Given the description of an element on the screen output the (x, y) to click on. 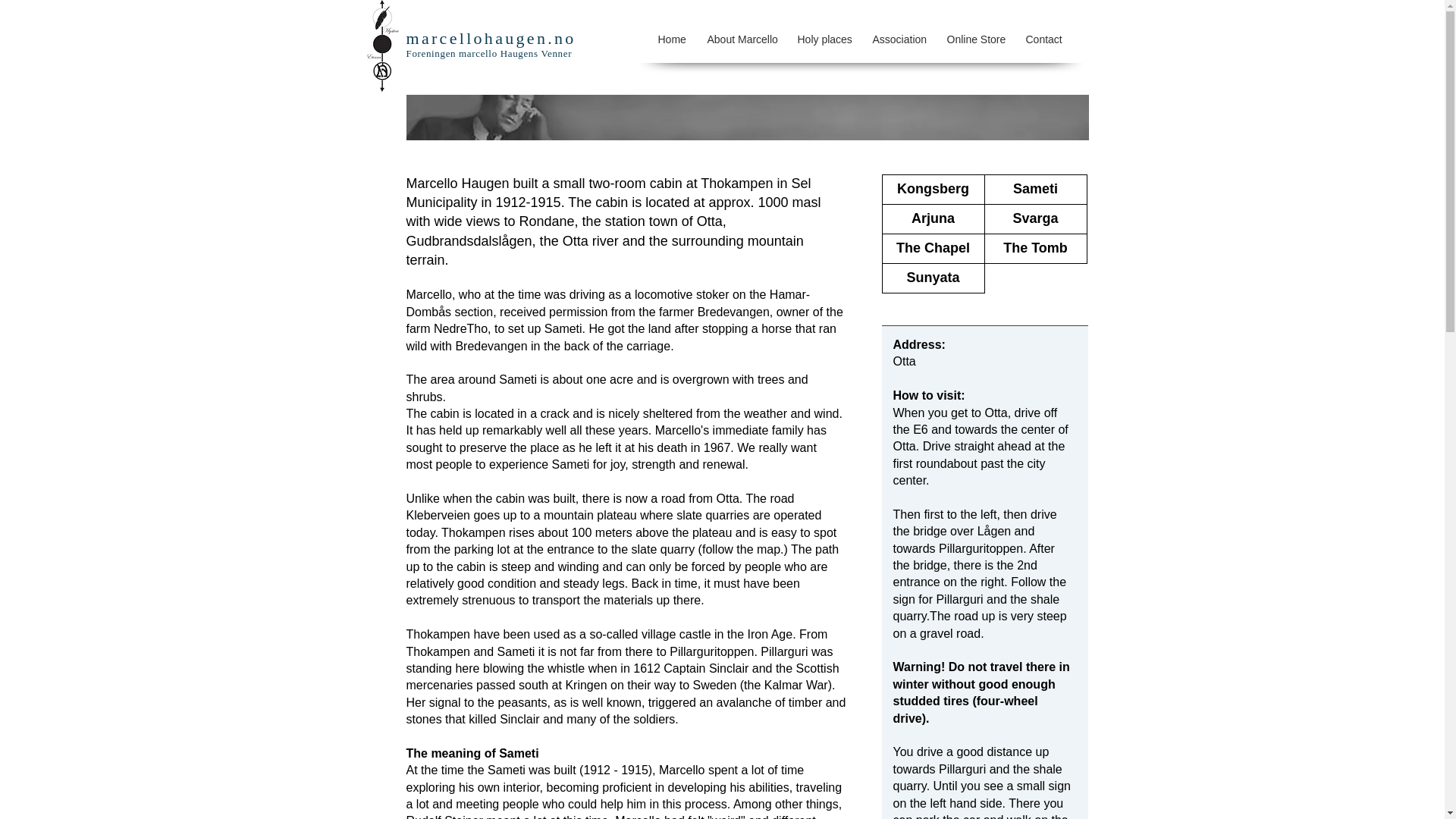
Foreningen marcello Haugens Venner (489, 52)
The Chapel (932, 248)
marcellohaugen.no (491, 37)
Kongsberg (932, 189)
The Tomb (1035, 248)
Sunyata (932, 277)
Sameti (1035, 189)
Arjuna (932, 218)
Home (670, 39)
Contact (1042, 39)
